Given the description of an element on the screen output the (x, y) to click on. 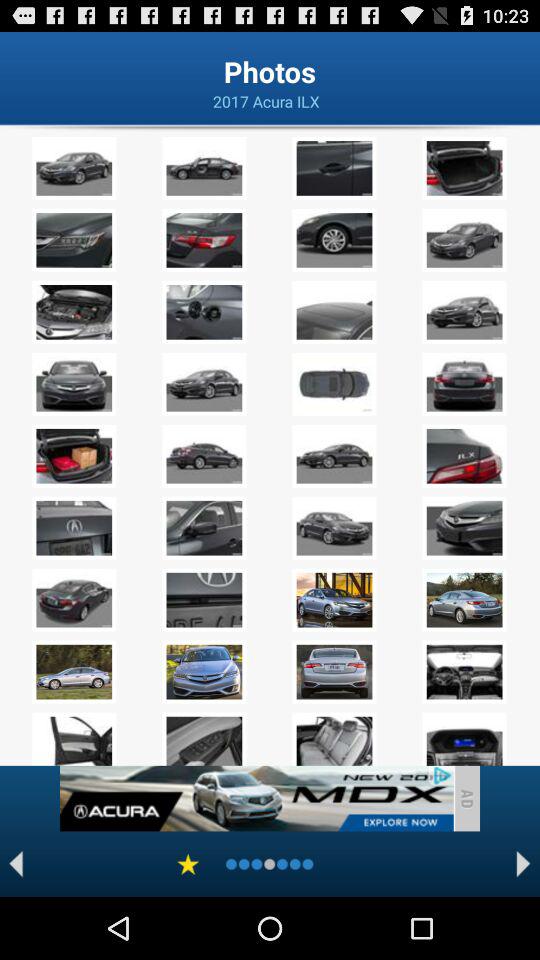
next page (523, 864)
